Given the description of an element on the screen output the (x, y) to click on. 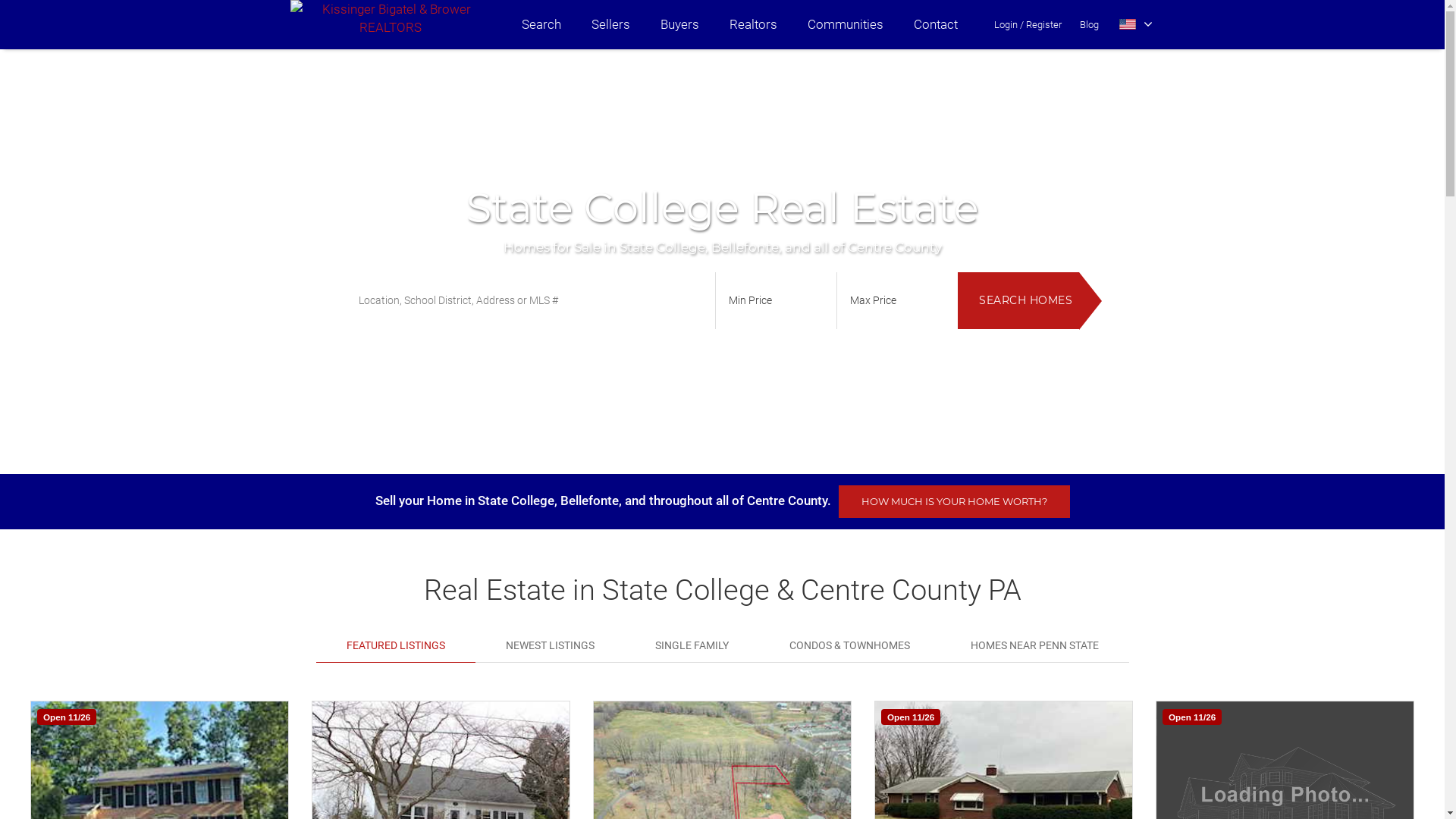
HOW MUCH IS YOUR HOME WORTH? Element type: text (954, 501)
Select Language Element type: hover (1135, 24)
SEARCH HOMES Element type: text (1017, 300)
Login/ Element type: text (1009, 24)
Blog Element type: text (1088, 24)
Buyers Element type: text (678, 24)
Register Element type: text (1042, 24)
Realtors Element type: text (753, 24)
Communities Element type: text (844, 24)
Search Element type: text (541, 24)
Enter Location, School District, Address or MLS # Element type: hover (528, 300)
Contact Element type: text (934, 24)
Sellers Element type: text (610, 24)
